Given the description of an element on the screen output the (x, y) to click on. 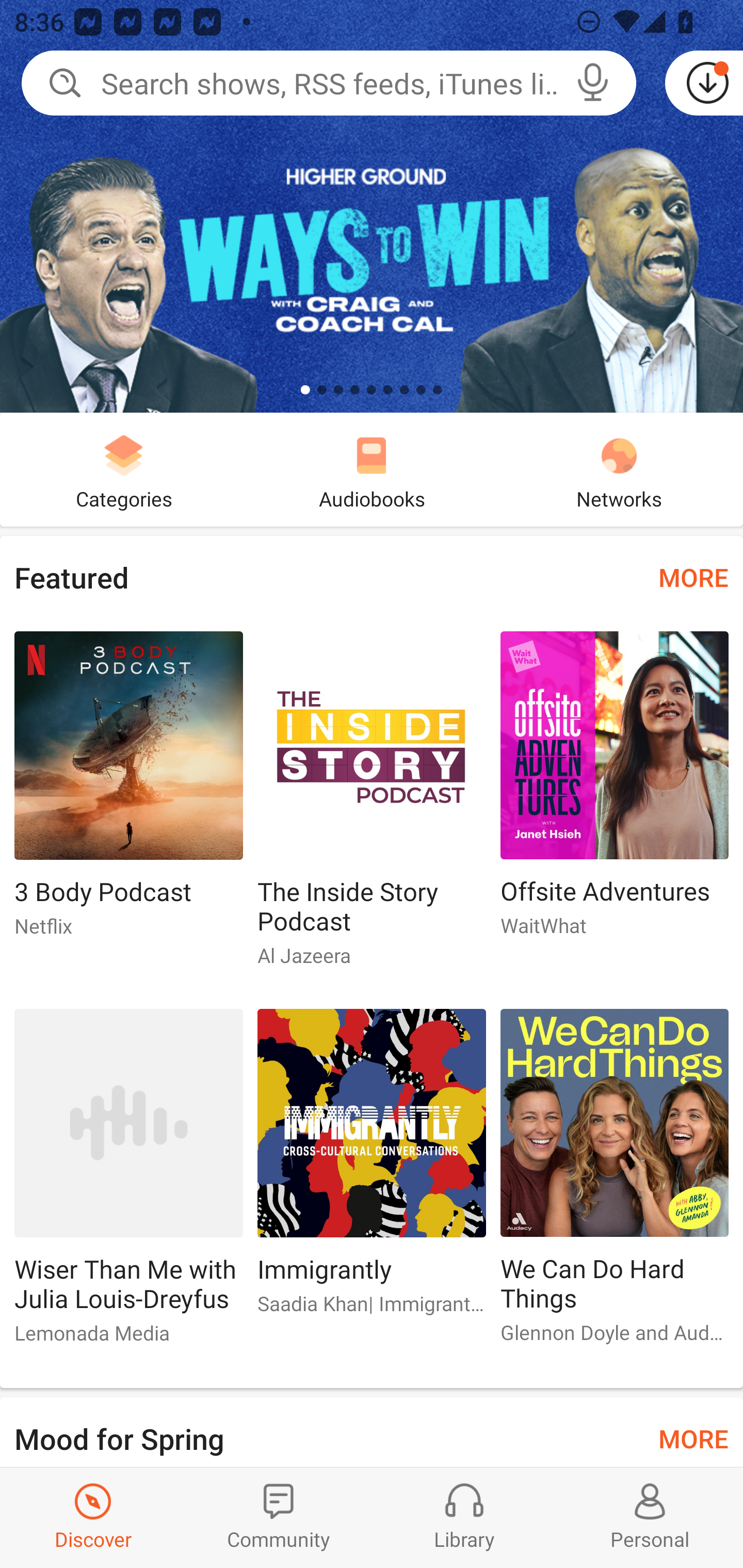
Ways To Win (371, 206)
Categories (123, 469)
Audiobooks (371, 469)
Networks (619, 469)
MORE (693, 576)
3 Body Podcast 3 Body Podcast Netflix (128, 792)
Offsite Adventures Offsite Adventures WaitWhat (614, 792)
MORE (693, 1436)
Discover (92, 1517)
Community (278, 1517)
Library (464, 1517)
Profiles and Settings Personal (650, 1517)
